Given the description of an element on the screen output the (x, y) to click on. 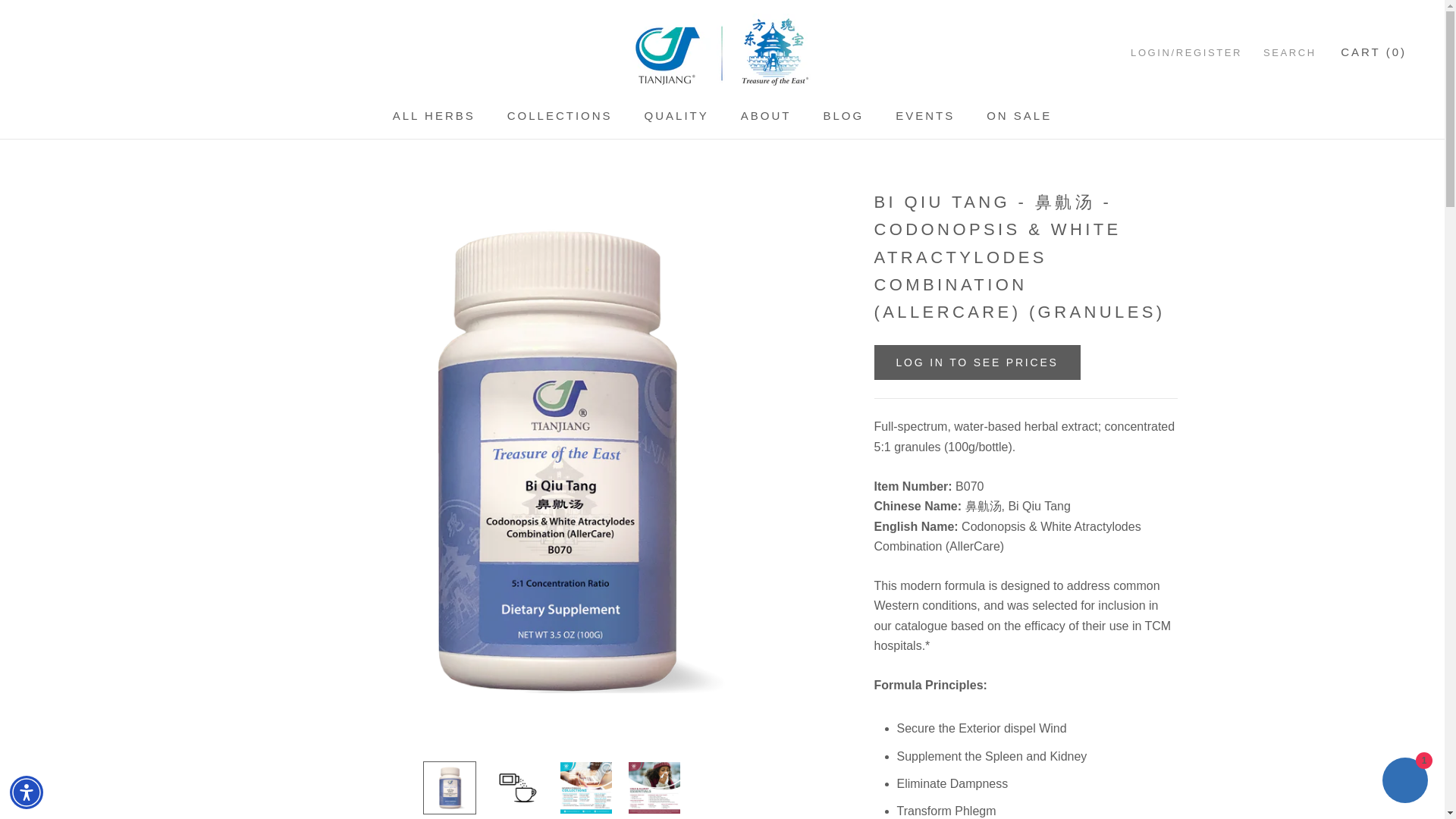
Shopify online store chat (1404, 781)
Accessibility Menu (26, 792)
